Given the description of an element on the screen output the (x, y) to click on. 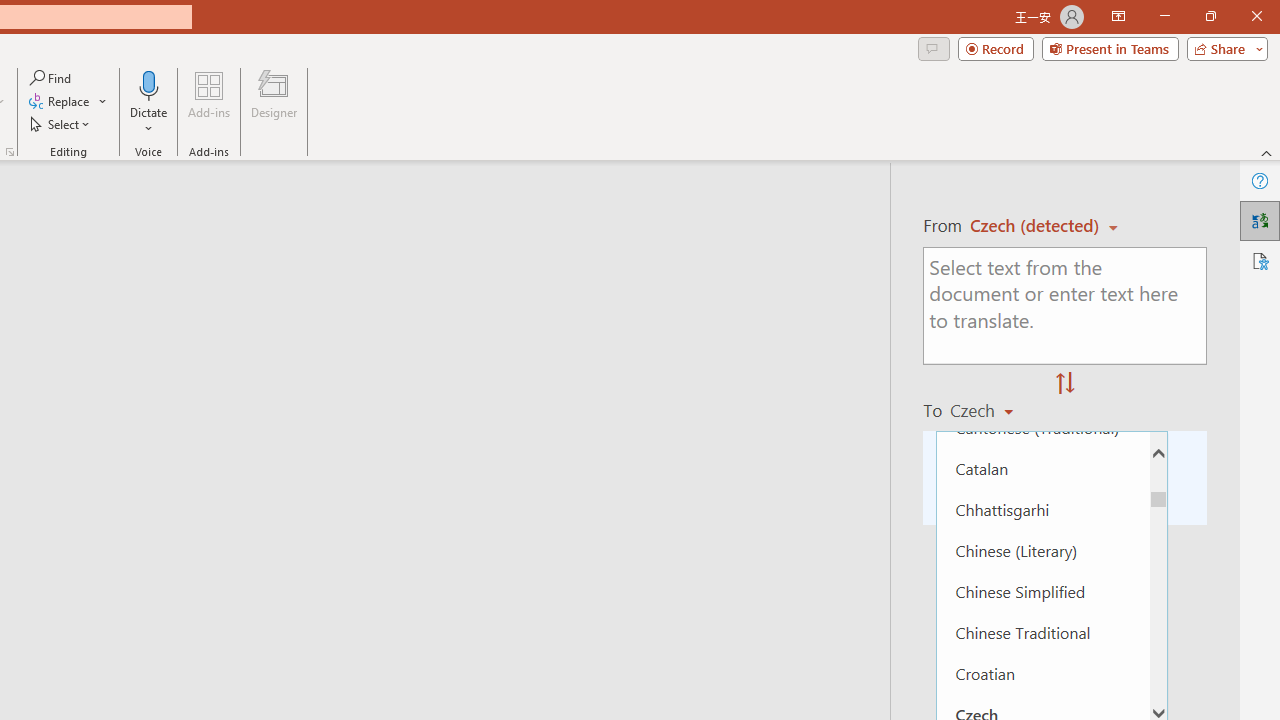
Czech (991, 409)
Bodo (1042, 303)
Chinese (Literary) (1042, 549)
Bhojpuri (1042, 263)
Croatian (1042, 673)
